Given the description of an element on the screen output the (x, y) to click on. 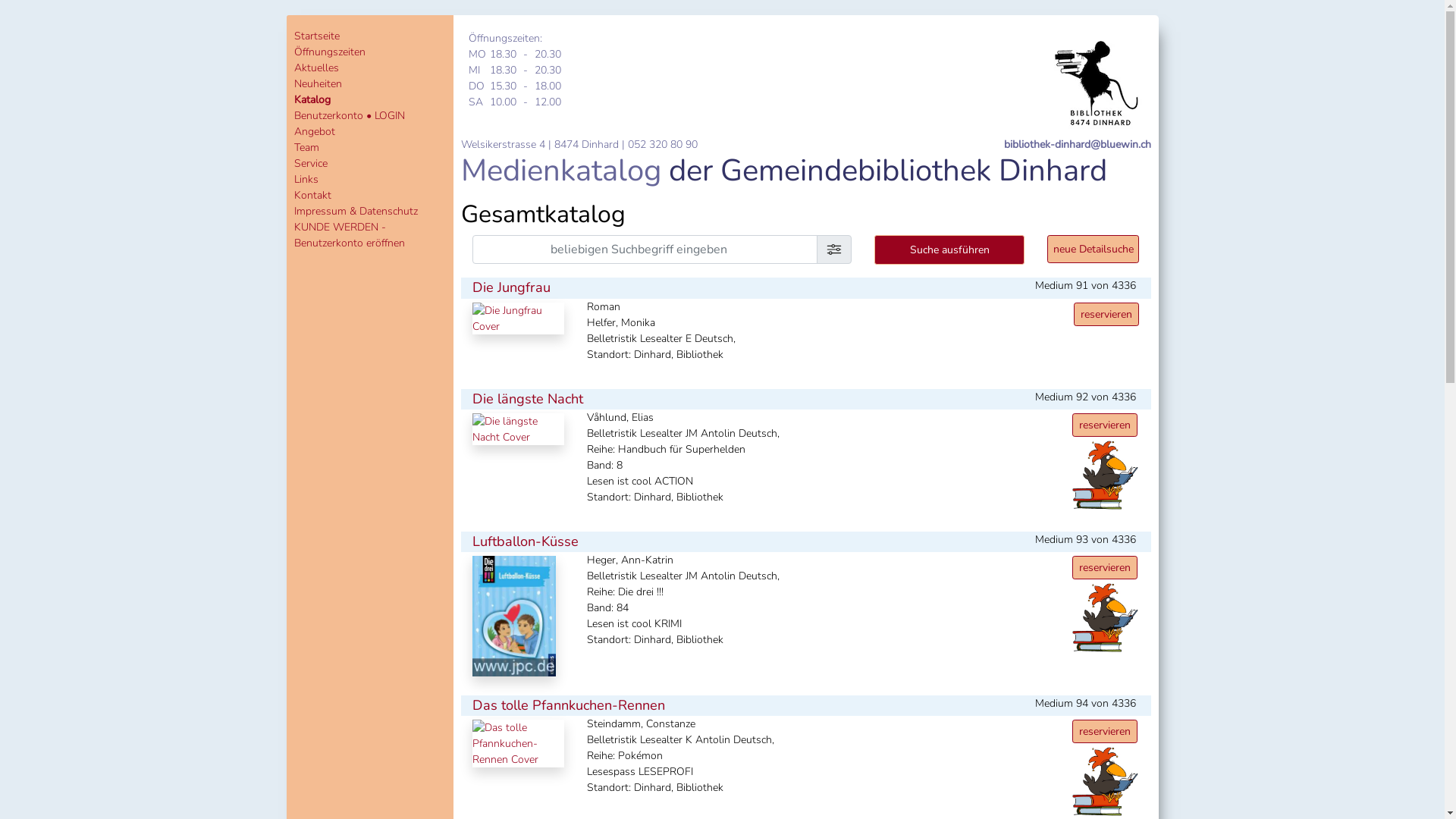
Katalog Element type: text (312, 99)
Team Element type: text (306, 147)
neue Detailsuche Element type: text (1093, 249)
Aktuelles Element type: text (316, 67)
Kontakt Element type: text (312, 195)
reservieren Element type: text (1104, 424)
Links Element type: text (306, 179)
Die Jungfrau Element type: text (510, 287)
reservieren Element type: text (1106, 314)
reservieren Element type: text (1104, 731)
Startseite Element type: text (316, 35)
Angebot Element type: text (314, 131)
Neuheiten Element type: text (318, 83)
bibliothek-dinhard@bluewin.ch Element type: text (1077, 144)
Das tolle Pfannkuchen-Rennen Element type: text (567, 705)
Service Element type: text (310, 163)
Impressum & Datenschutz Element type: text (355, 210)
reservieren Element type: text (1104, 567)
